Given the description of an element on the screen output the (x, y) to click on. 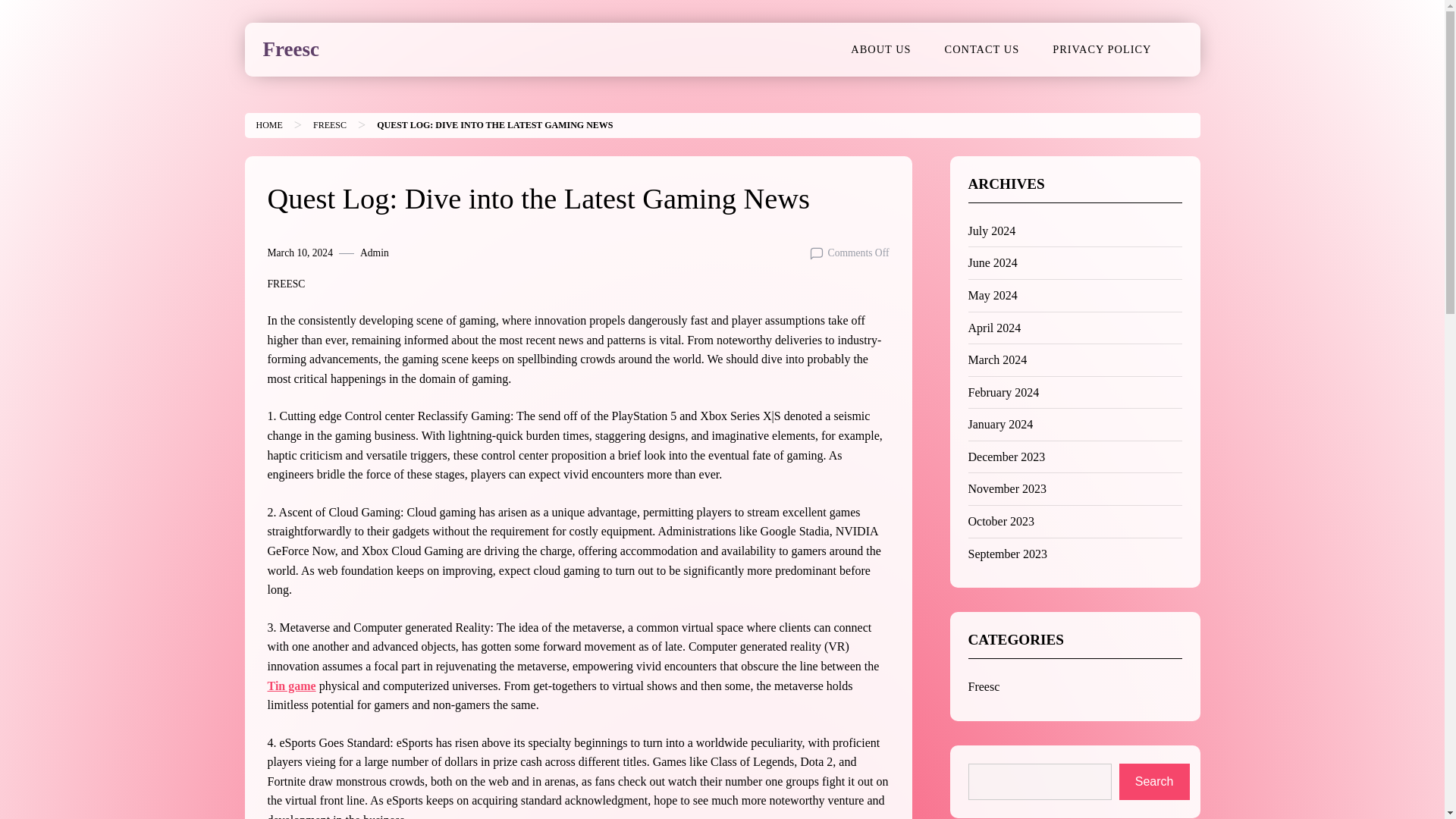
FREESC (329, 124)
November 2023 (1007, 488)
April 2024 (994, 327)
October 2023 (1000, 521)
Freesc (983, 686)
September 2023 (1007, 553)
May 2024 (992, 295)
FREESC (285, 284)
Admin (373, 252)
Quest Log: Dive into the Latest Gaming News (494, 124)
March 10, 2024 (298, 252)
January 2024 (1000, 423)
Freesc (290, 48)
HOME (269, 124)
June 2024 (992, 262)
